Given the description of an element on the screen output the (x, y) to click on. 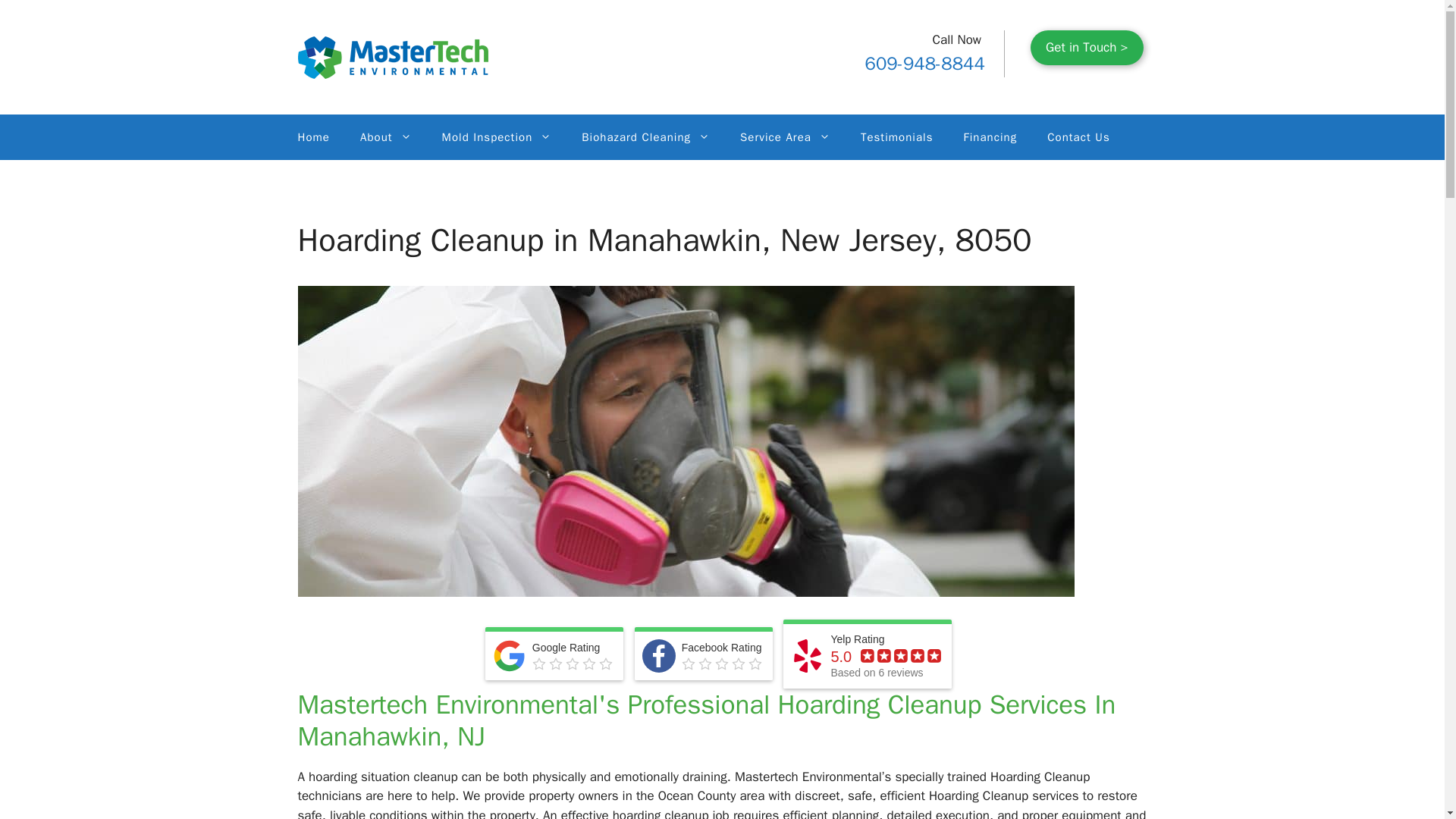
About (385, 136)
Contact Us (1078, 136)
Testimonials (897, 136)
Mold Inspection (496, 136)
609-948-8844 (924, 62)
Home (312, 136)
Financing (990, 136)
Biohazard Cleaning (645, 136)
Service Area (785, 136)
